Given the description of an element on the screen output the (x, y) to click on. 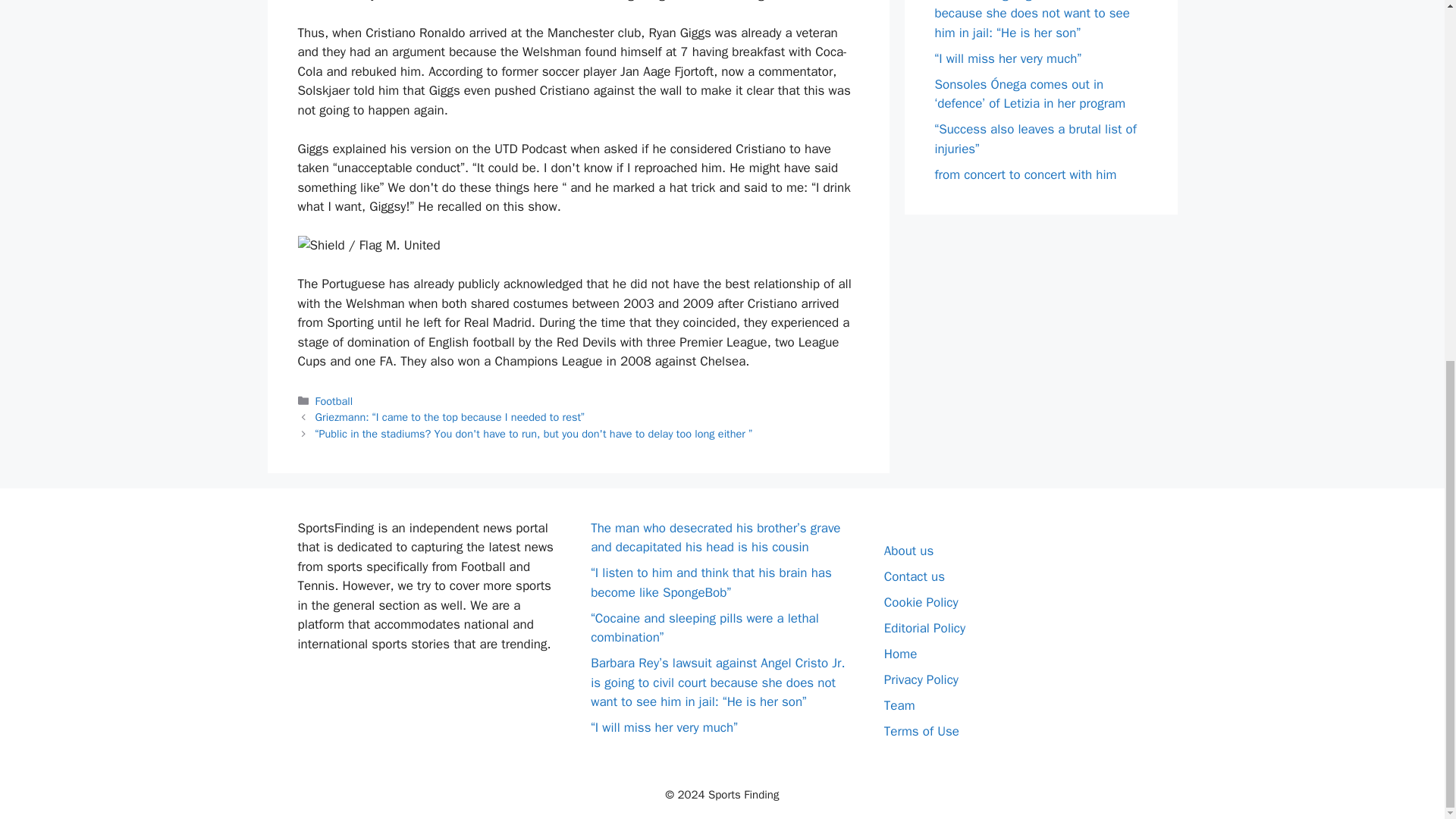
About us (908, 550)
Cookie Policy (920, 602)
Contact us (913, 576)
Editorial Policy (924, 627)
from concert to concert with him (1025, 173)
Football (334, 400)
Home (900, 653)
